Given the description of an element on the screen output the (x, y) to click on. 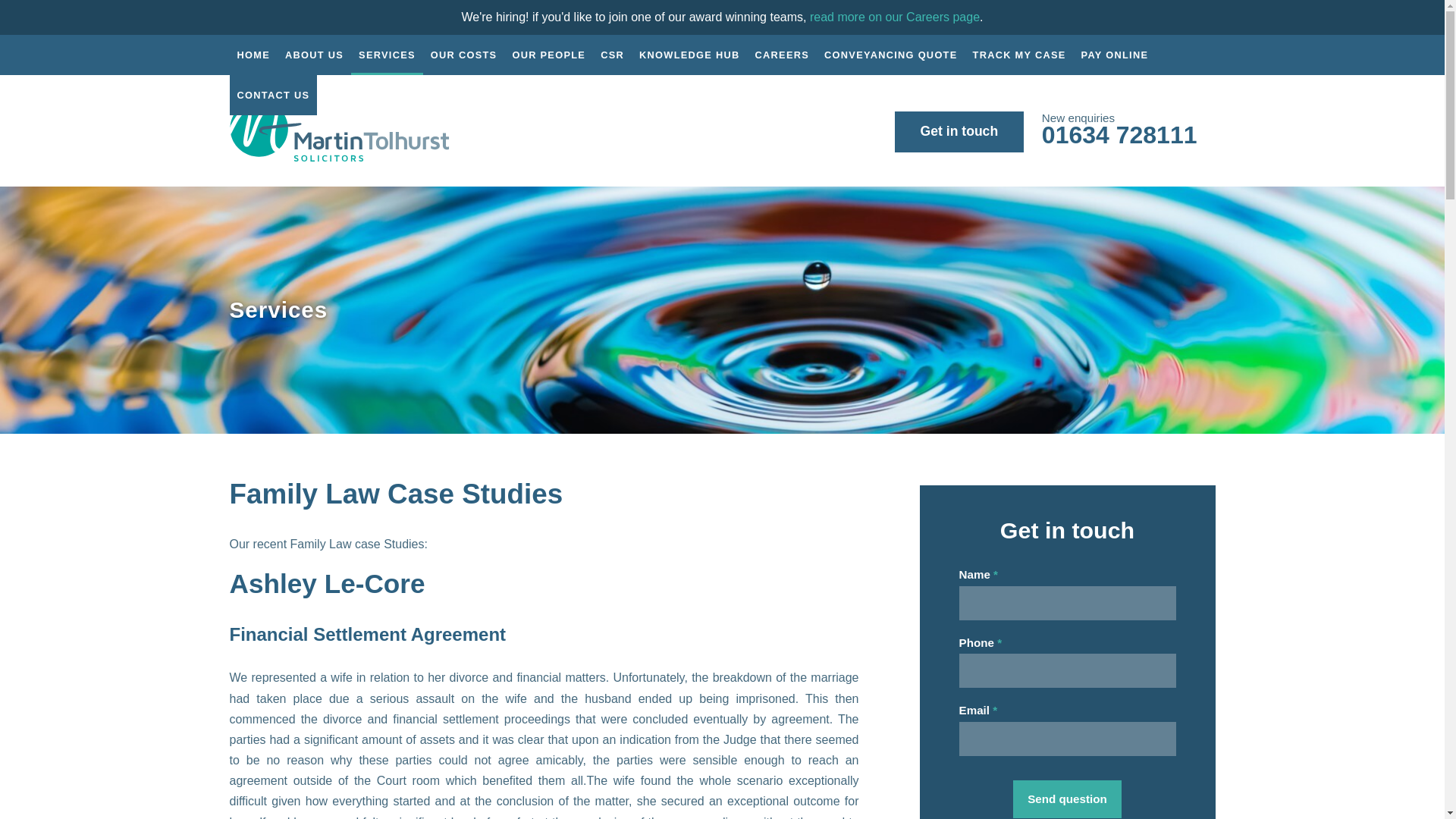
CONTACT US (272, 95)
CAREERS (782, 55)
SERVICES (386, 55)
OUR COSTS (464, 55)
OUR PEOPLE (547, 55)
TRACK MY CASE (1019, 55)
CSR (611, 55)
HOME (253, 55)
CONVEYANCING QUOTE (889, 55)
PAY ONLINE (1115, 55)
